Given the description of an element on the screen output the (x, y) to click on. 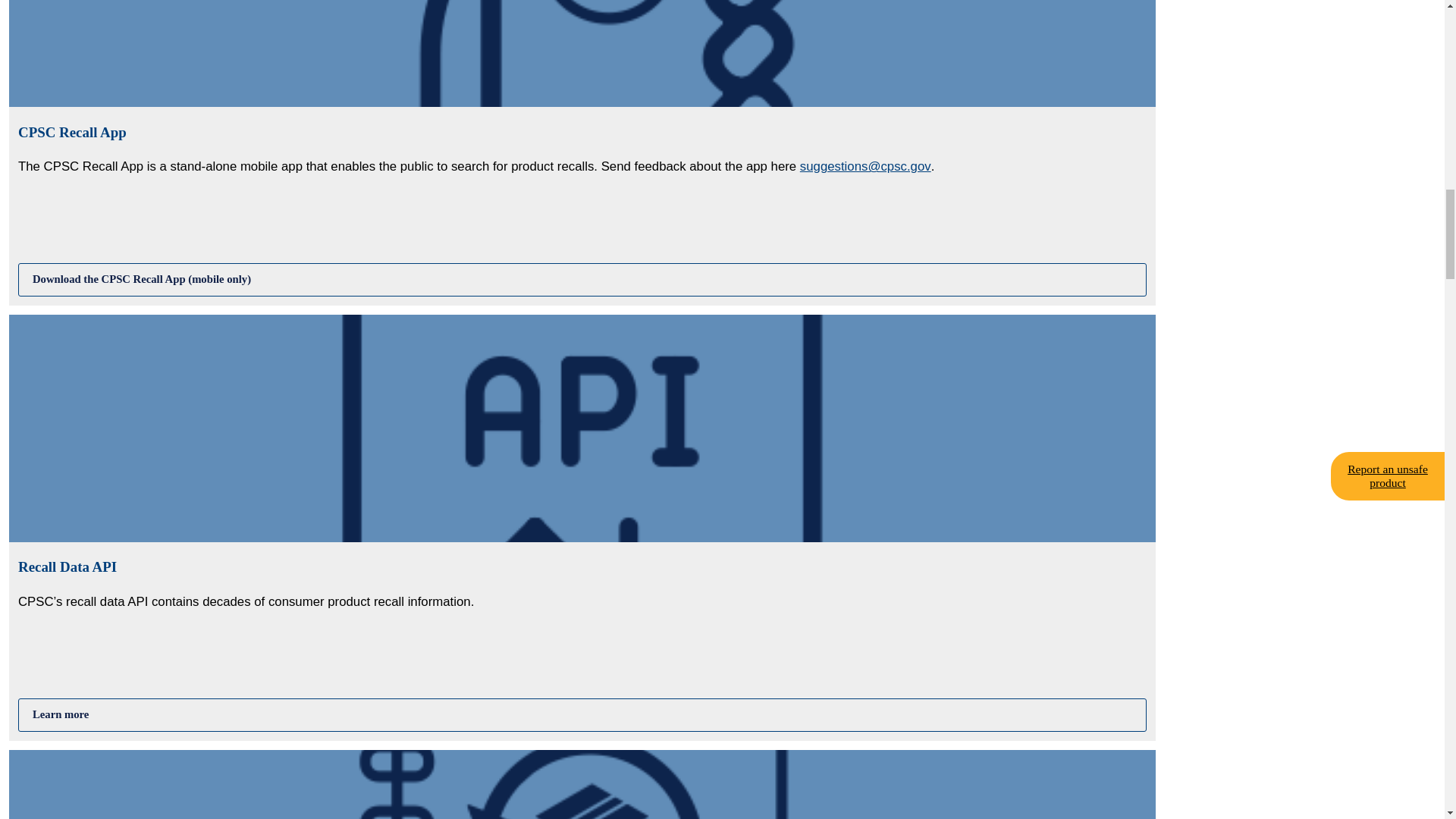
Learn more (582, 714)
Recall Data API (582, 714)
CPSC Recall App (582, 278)
